Given the description of an element on the screen output the (x, y) to click on. 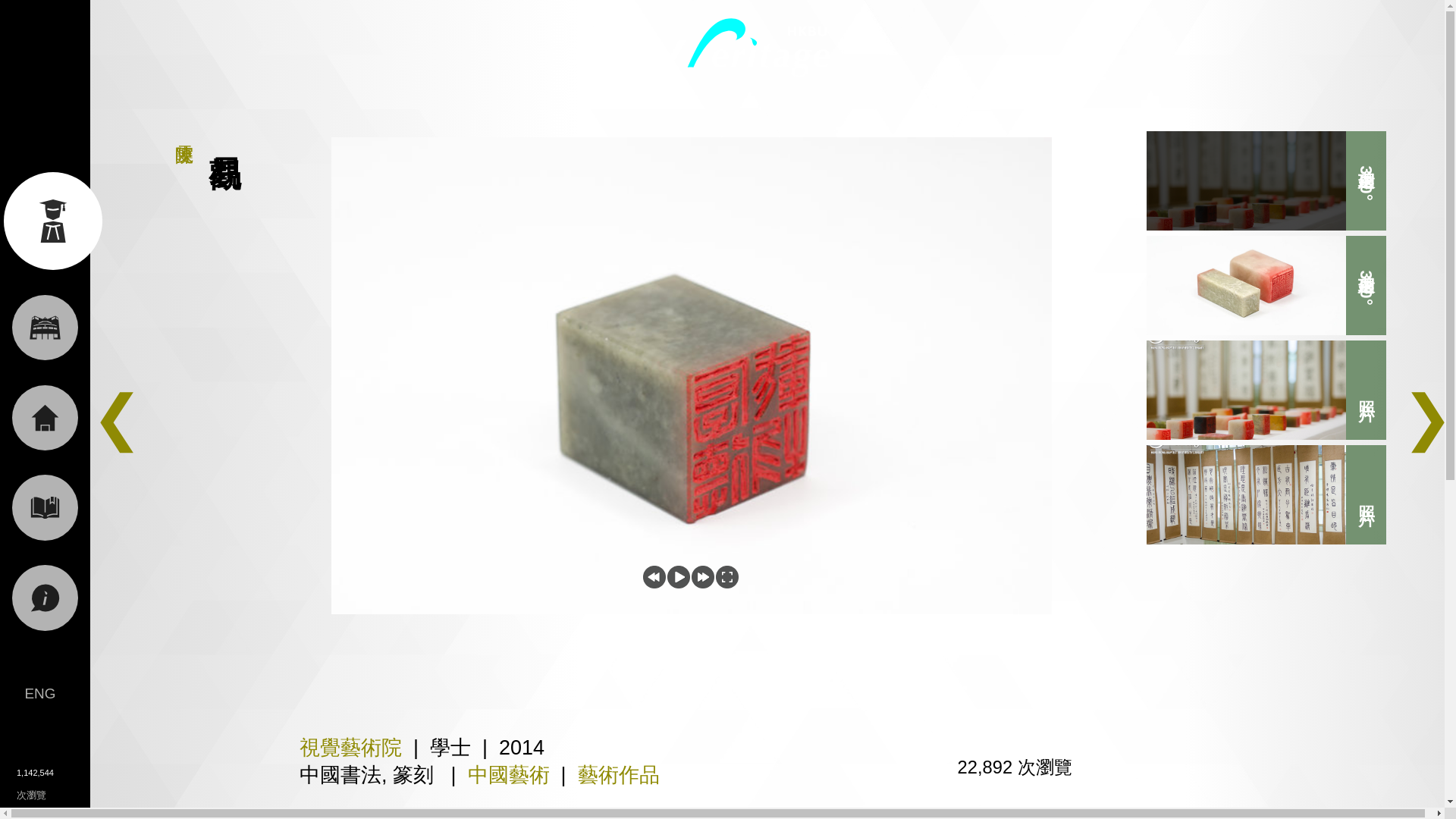
ENG (40, 692)
